Given the description of an element on the screen output the (x, y) to click on. 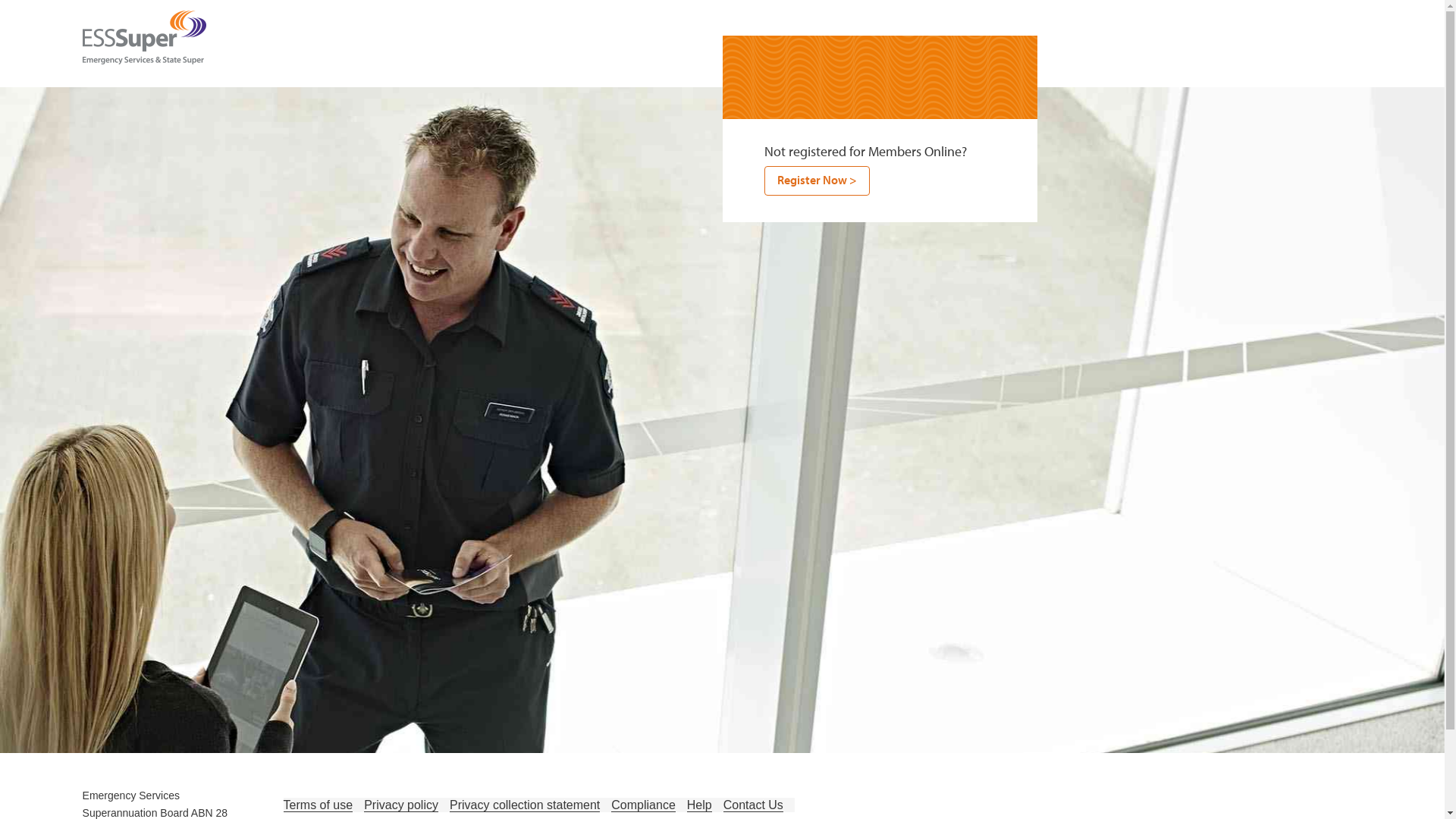
Terms of use Element type: text (318, 805)
Contact Us Element type: text (753, 805)
Privacy policy Element type: text (401, 805)
Register Now > Element type: text (816, 180)
Privacy collection statement Element type: text (524, 805)
Help Element type: text (699, 805)
Compliance Element type: text (642, 805)
